Given the description of an element on the screen output the (x, y) to click on. 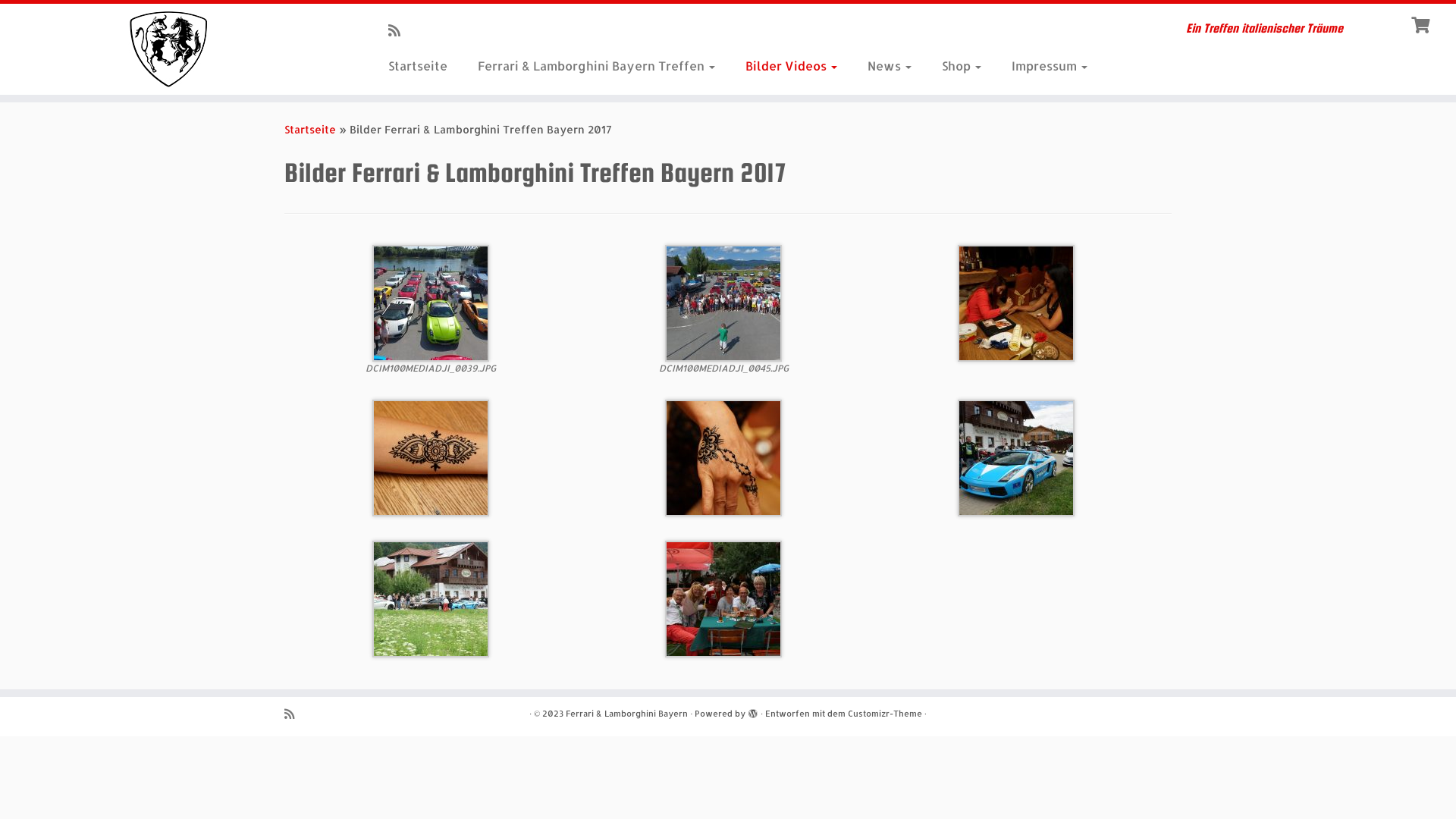
Startseite Element type: text (423, 65)
Powered by WordPress Element type: hover (752, 710)
Shop Element type: text (961, 65)
Impressum Element type: text (1041, 65)
RSS-Feed abonnieren Element type: hover (399, 29)
Startseite Element type: text (309, 128)
Customizr-Theme Element type: text (884, 713)
Bilder Videos Element type: text (791, 65)
Ferrari & Lamborghini Bayern Treffen Element type: text (596, 65)
News Element type: text (889, 65)
RSS-Feed abonnieren Element type: hover (294, 713)
Ferrari & Lamborghini Bayern Element type: text (626, 713)
Warenkorb ansehen Element type: hover (1422, 23)
